Given the description of an element on the screen output the (x, y) to click on. 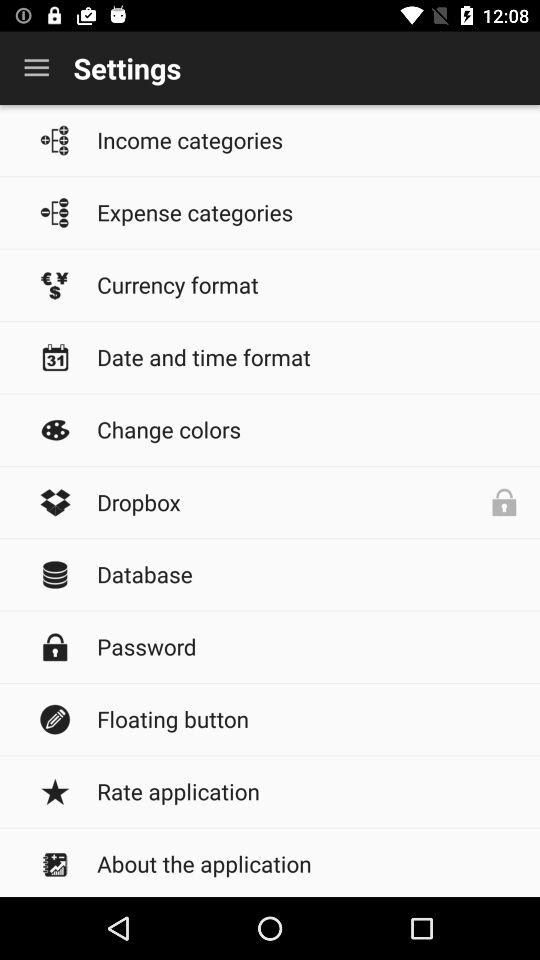
choose the icon above the currency format item (308, 212)
